Given the description of an element on the screen output the (x, y) to click on. 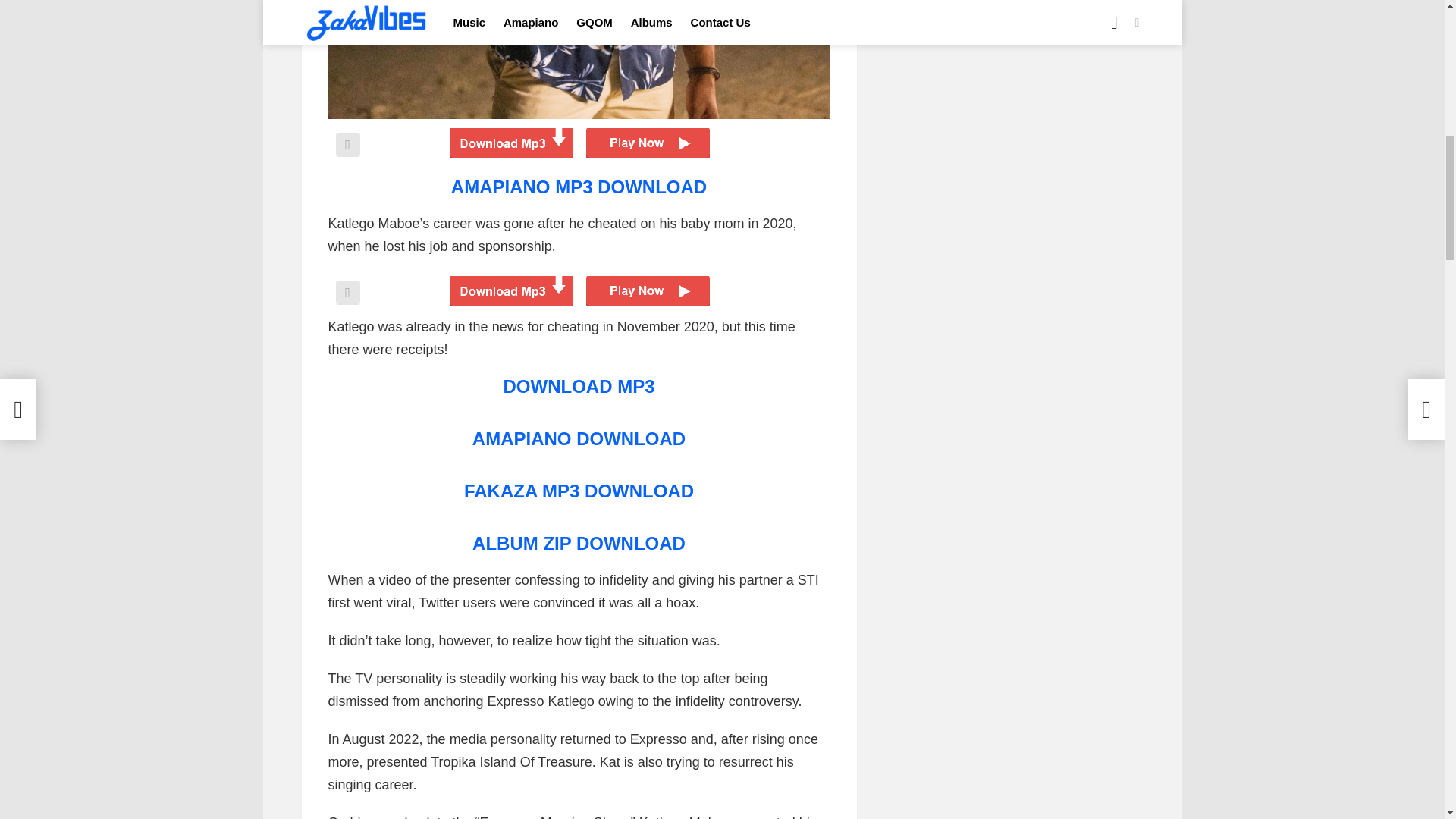
Share (346, 292)
Share (346, 144)
AMAPIANO MP3 DOWNLOAD (578, 186)
